Given the description of an element on the screen output the (x, y) to click on. 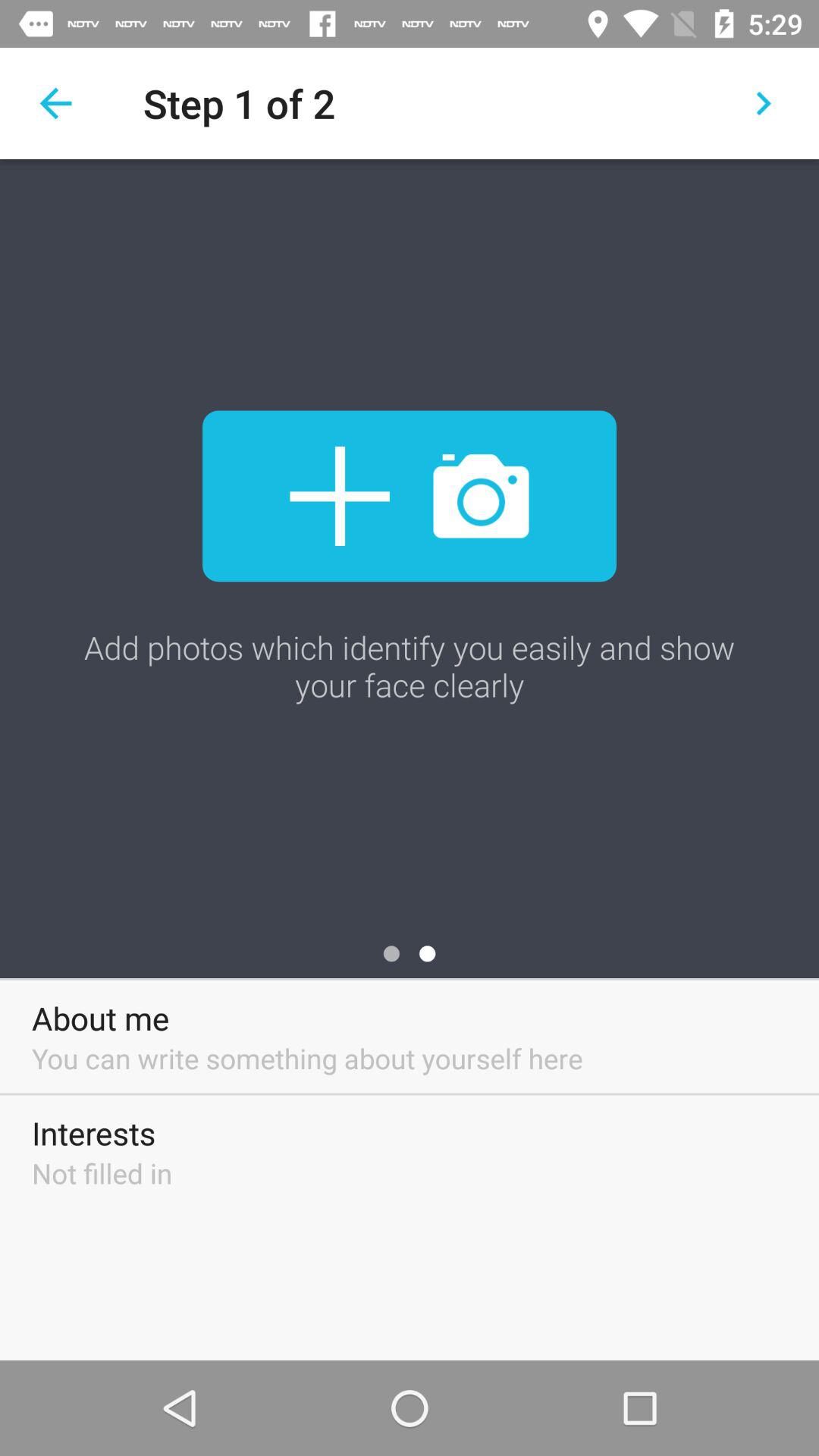
press the item below the step 1 of icon (409, 495)
